Given the description of an element on the screen output the (x, y) to click on. 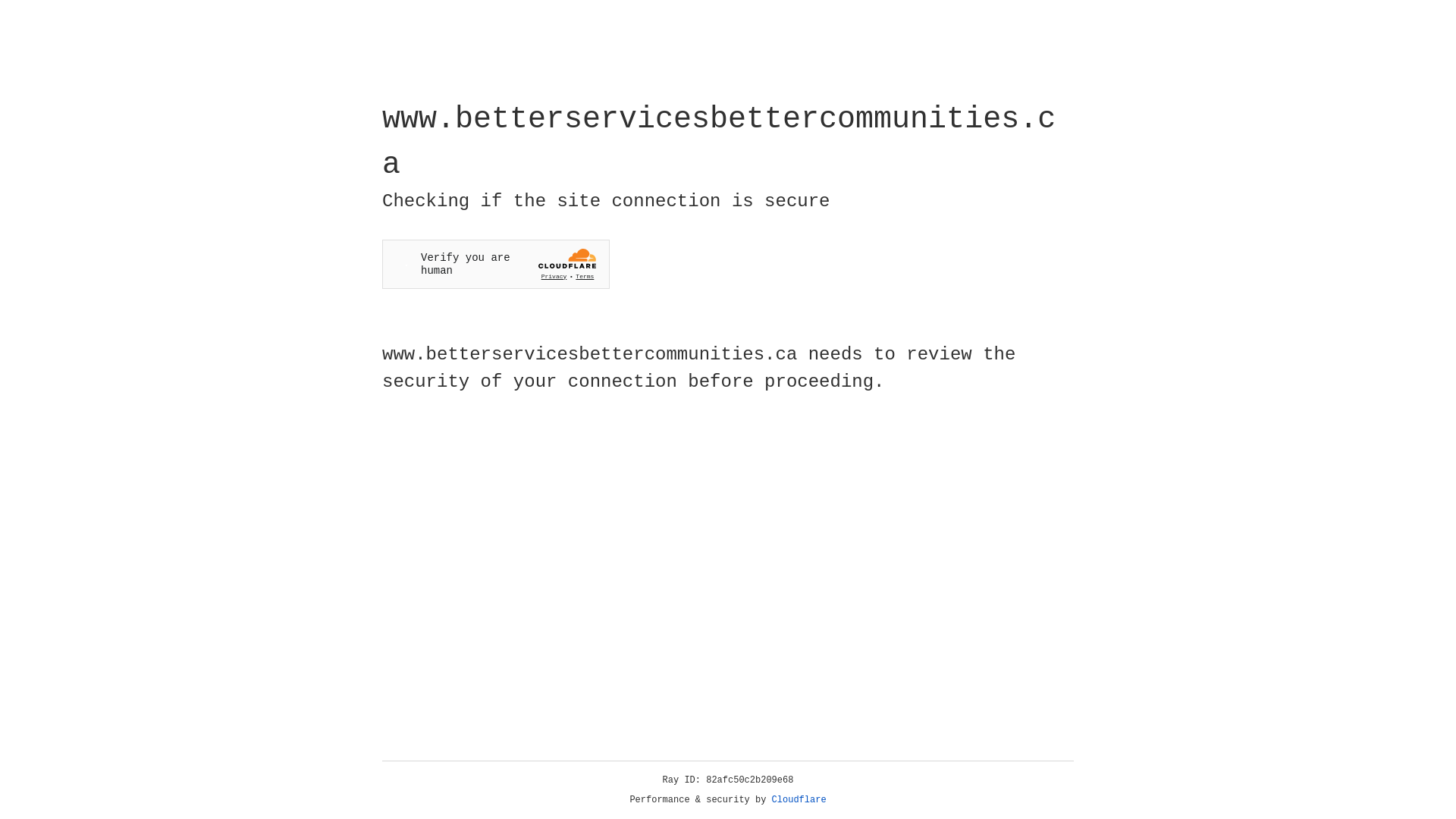
Widget containing a Cloudflare security challenge Element type: hover (495, 263)
Cloudflare Element type: text (798, 799)
